Given the description of an element on the screen output the (x, y) to click on. 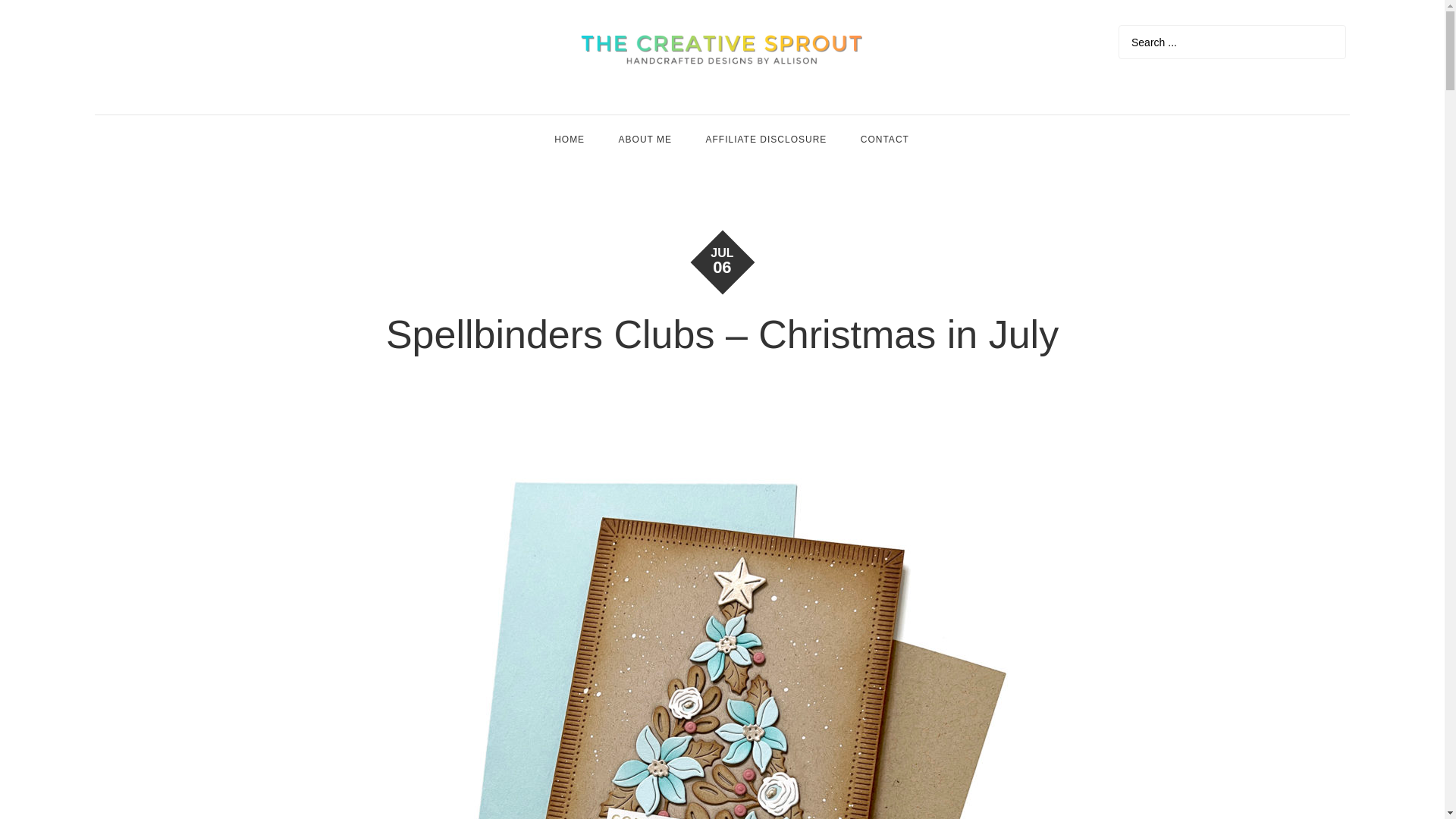
ABOUT ME (645, 139)
HOME (568, 139)
AFFILIATE DISCLOSURE (765, 139)
Instagram (105, 39)
CONTACT (884, 139)
Email (207, 39)
Pinterest (173, 39)
Search (1330, 41)
YouTube (138, 39)
Search for: (1231, 41)
